Given the description of an element on the screen output the (x, y) to click on. 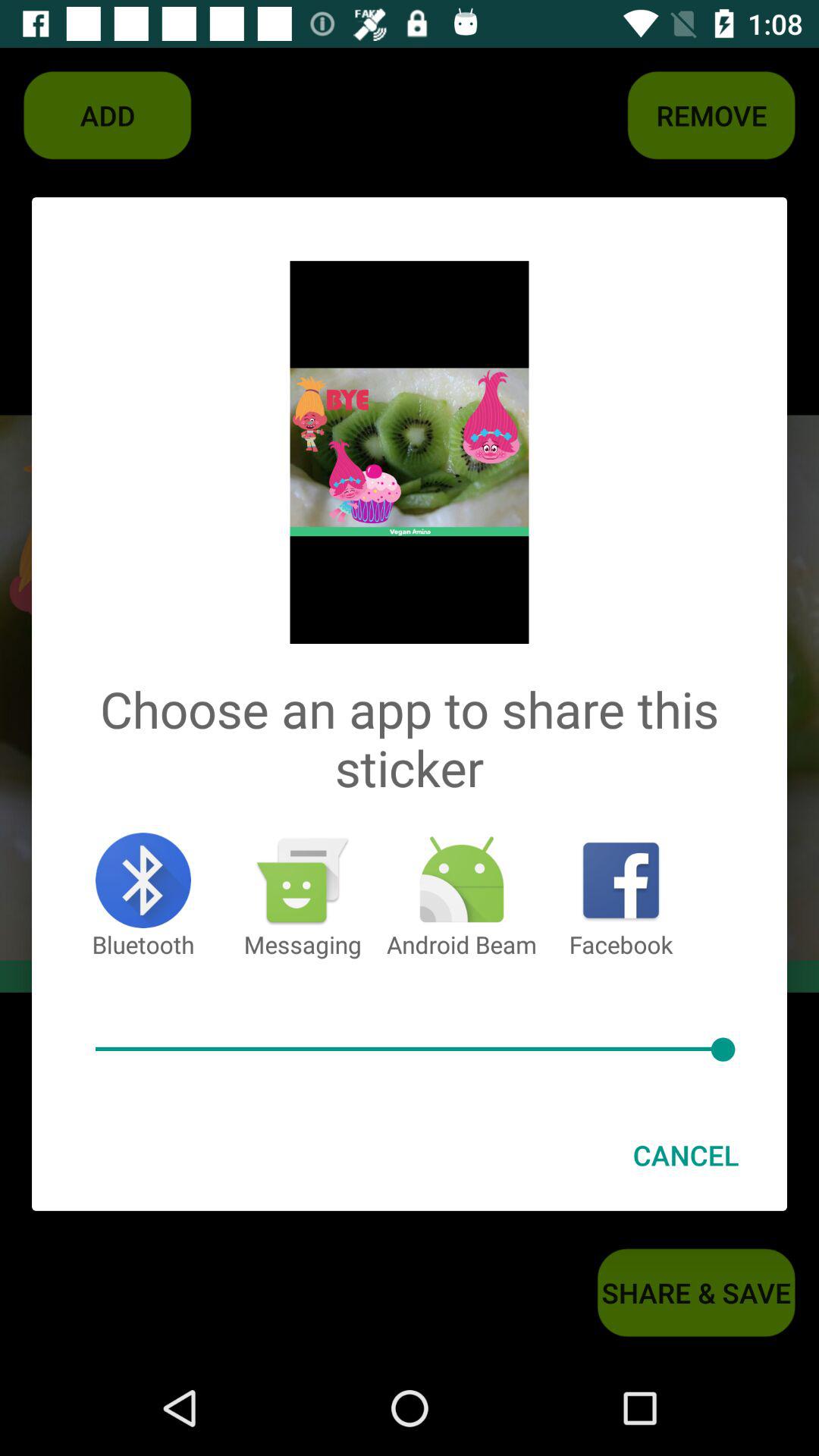
open the cancel (686, 1154)
